Given the description of an element on the screen output the (x, y) to click on. 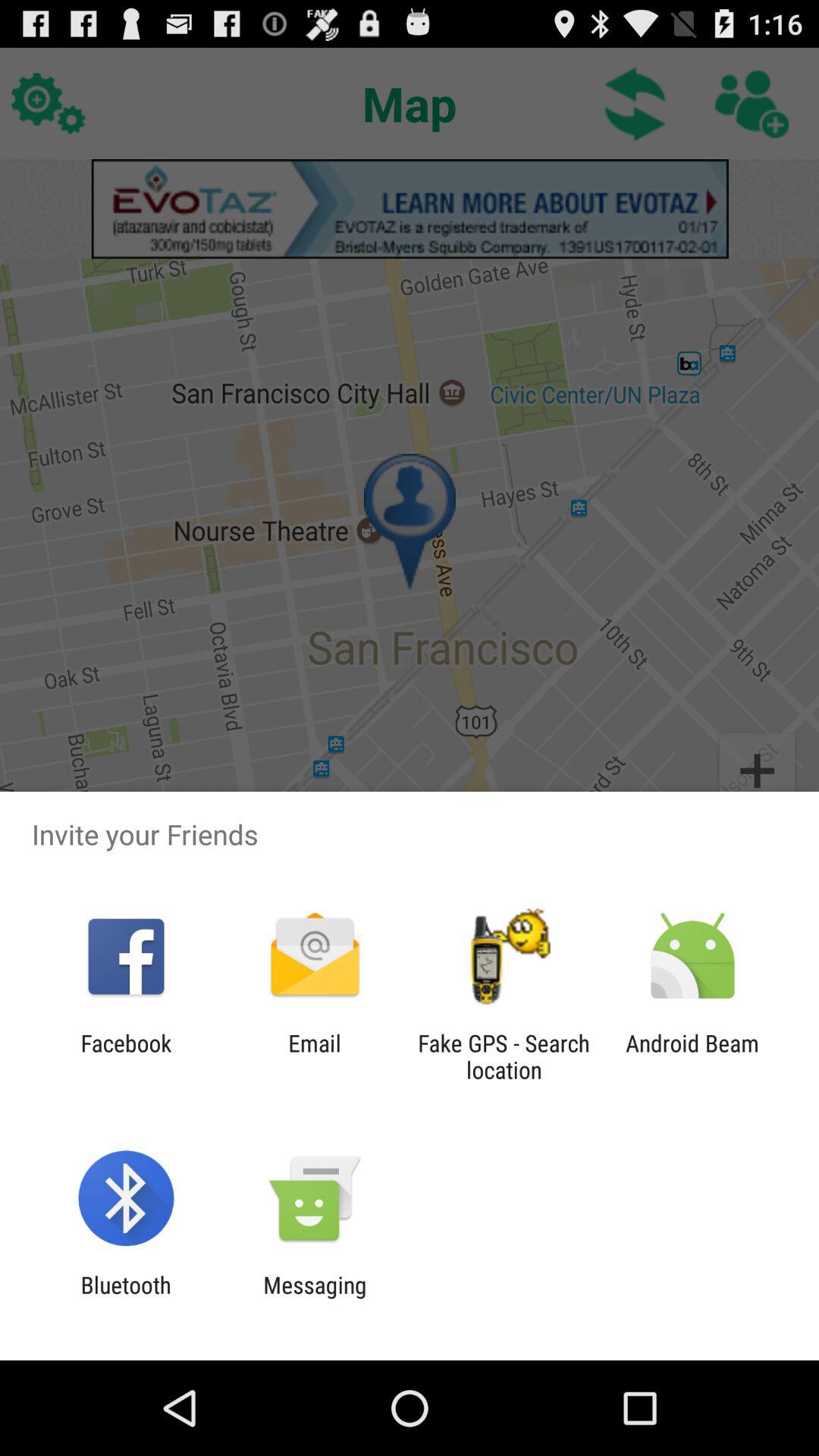
choose the item next to the email item (125, 1056)
